Given the description of an element on the screen output the (x, y) to click on. 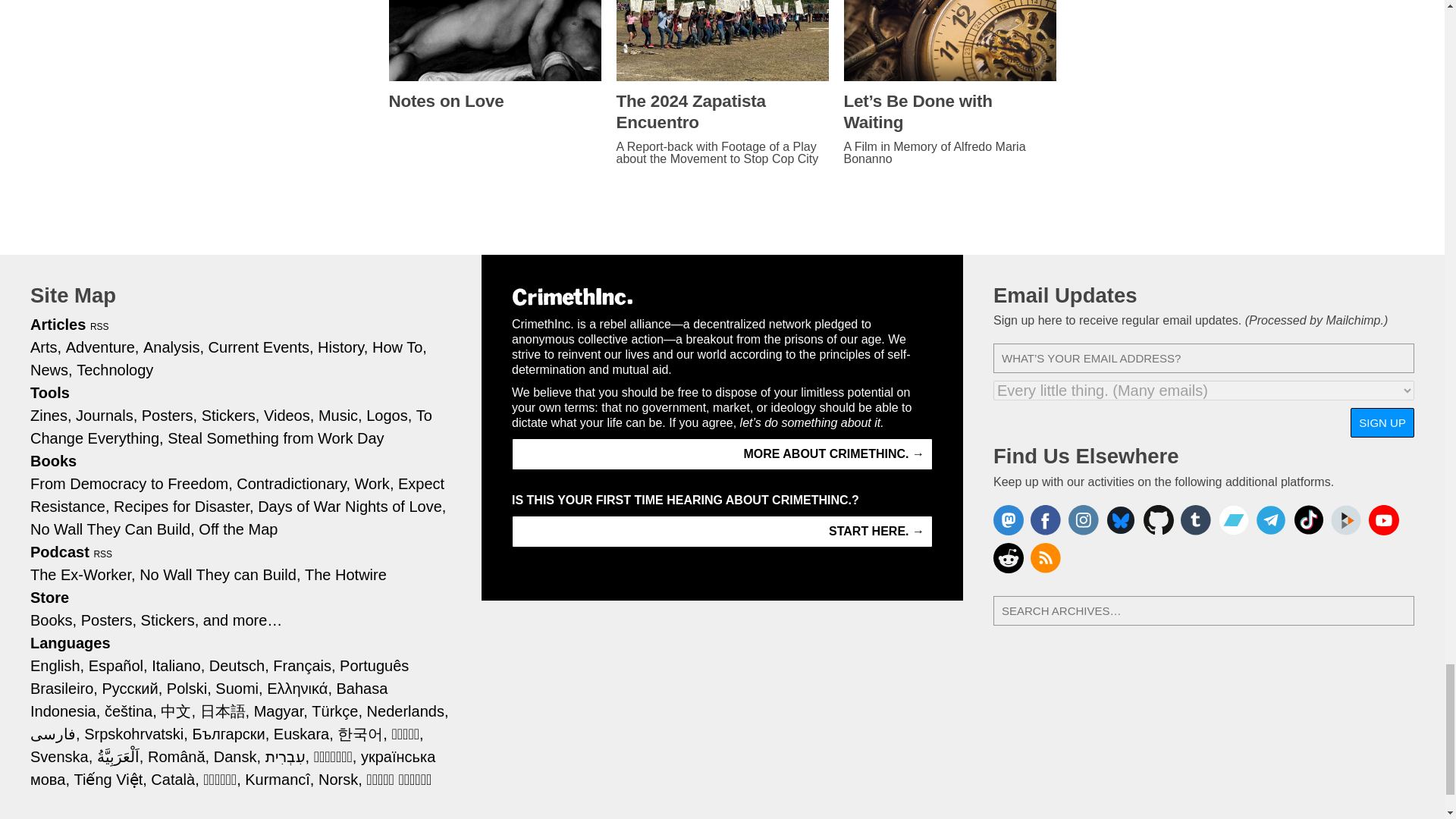
The 2024 Zapatista Encuentro (721, 111)
Notes on Love (493, 101)
